Given the description of an element on the screen output the (x, y) to click on. 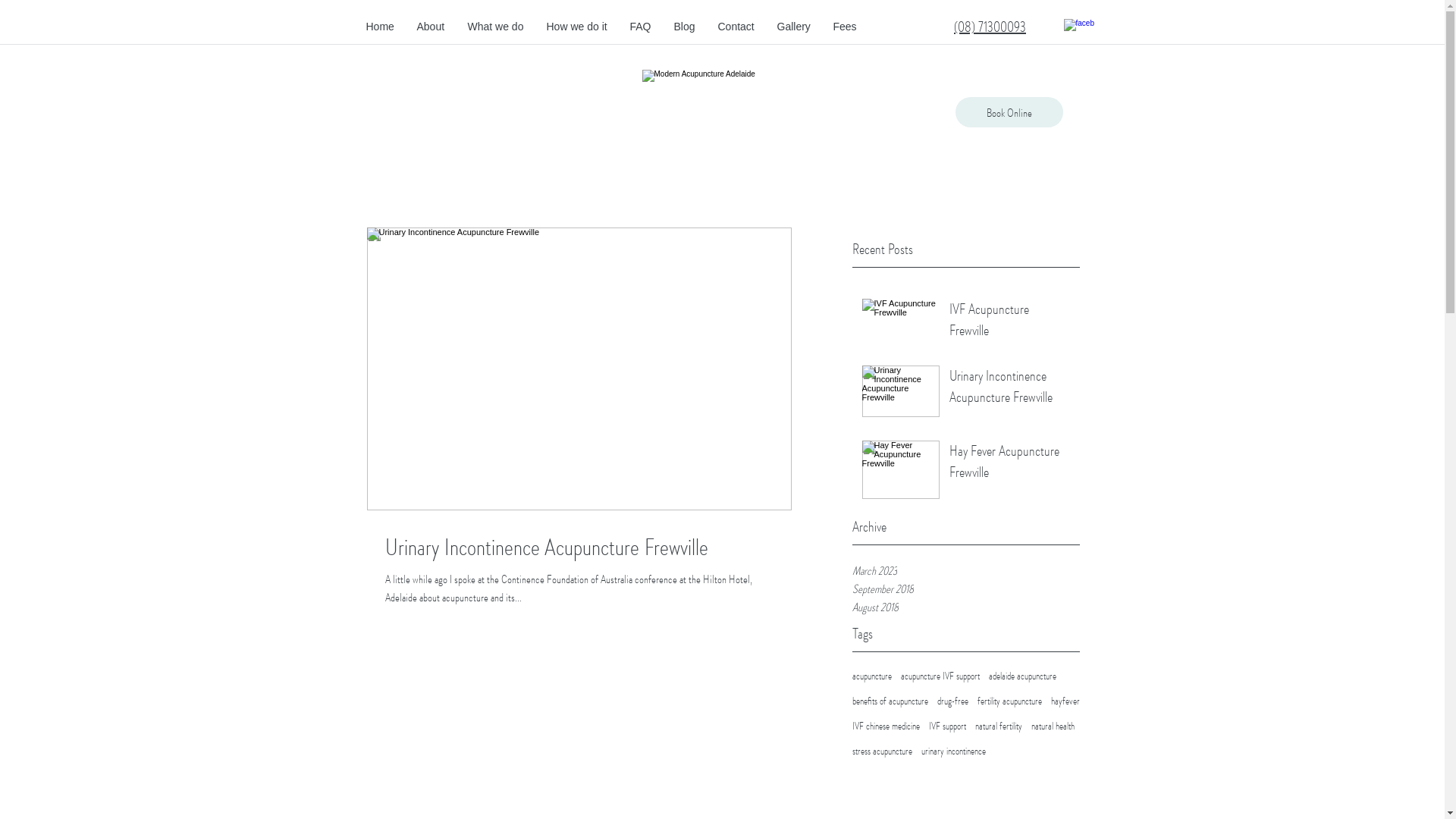
FAQ Element type: text (640, 26)
benefits of acupuncture Element type: text (890, 701)
adelaide acupuncture Element type: text (1022, 676)
How we do it Element type: text (576, 26)
Gallery Element type: text (793, 26)
About Element type: text (429, 26)
Home Element type: text (379, 26)
Fees Element type: text (845, 26)
Contact Element type: text (735, 26)
drug-free Element type: text (952, 701)
IVF support Element type: text (946, 726)
fertility acupuncture Element type: text (1008, 701)
natural fertility Element type: text (998, 726)
March 2023 Element type: text (965, 570)
acupuncture IVF support Element type: text (939, 676)
IVF chinese medicine Element type: text (885, 726)
Book Online Element type: text (1009, 112)
hayfever Element type: text (1065, 701)
stress acupuncture Element type: text (882, 751)
(08) 71300093 Element type: text (989, 25)
urinary incontinence Element type: text (952, 751)
Urinary Incontinence Acupuncture Frewville Element type: text (1009, 388)
Urinary Incontinence Acupuncture Frewville Element type: text (579, 546)
acupuncture Element type: text (871, 676)
IVF Acupuncture Frewville Element type: text (1009, 322)
Blog Element type: text (684, 26)
natural health Element type: text (1052, 726)
September 2018 Element type: text (965, 588)
August 2018 Element type: text (965, 606)
Hay Fever Acupuncture Frewville Element type: text (1009, 463)
